Given the description of an element on the screen output the (x, y) to click on. 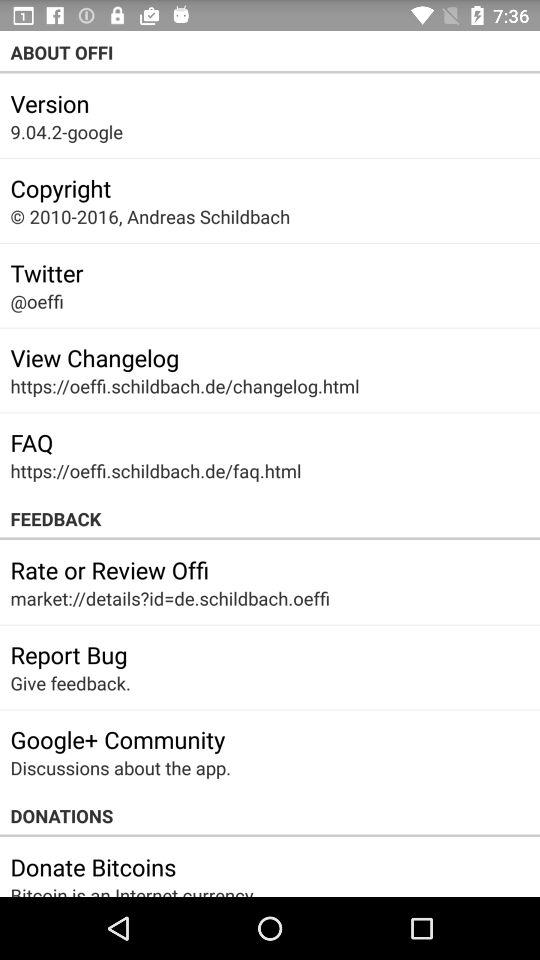
click icon above donate bitcoins (270, 815)
